Given the description of an element on the screen output the (x, y) to click on. 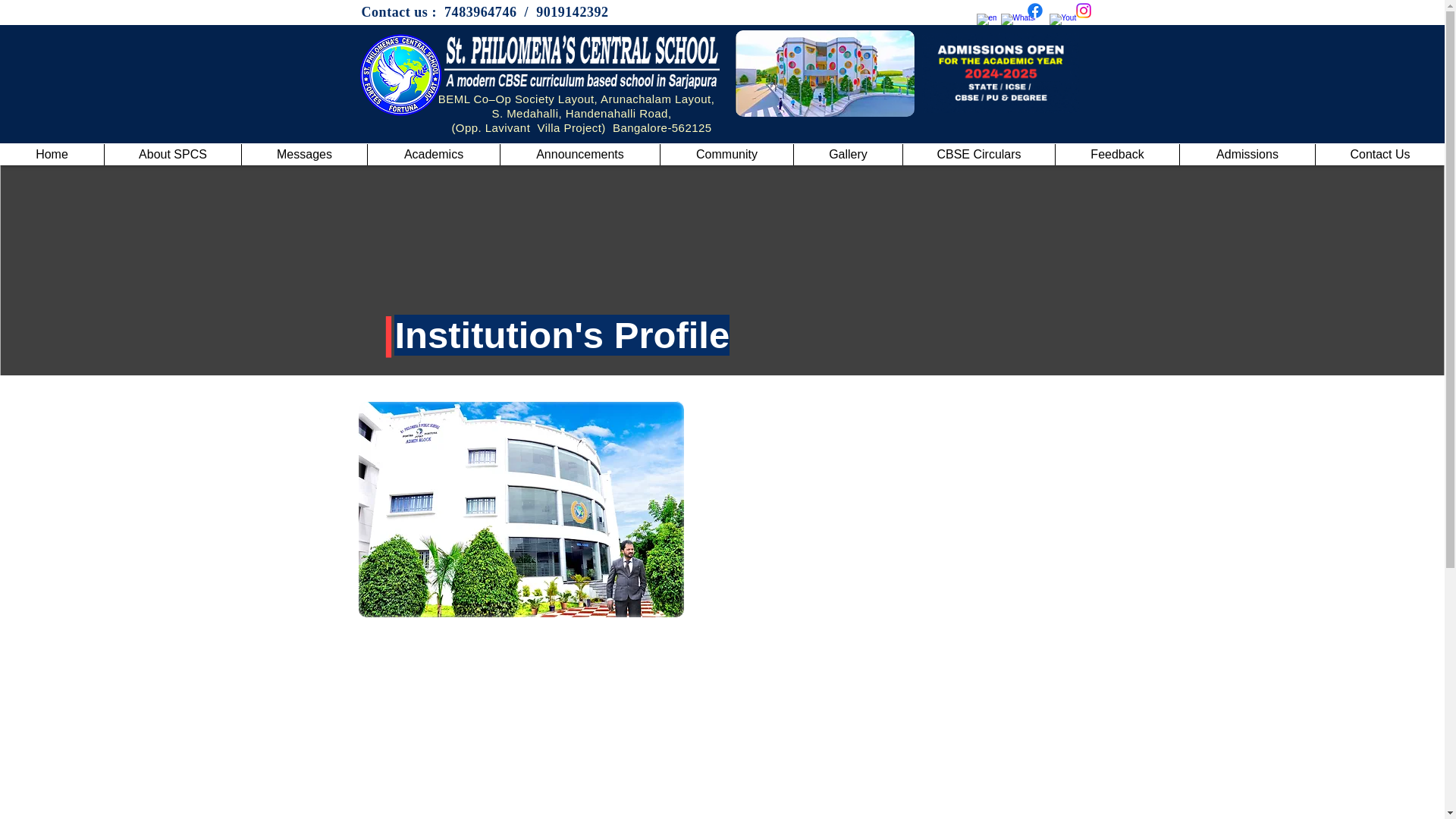
Home (51, 154)
cbse logo (401, 74)
CBSE Circulars (978, 154)
ADMISSIONS OPEN.gif (999, 73)
